Given the description of an element on the screen output the (x, y) to click on. 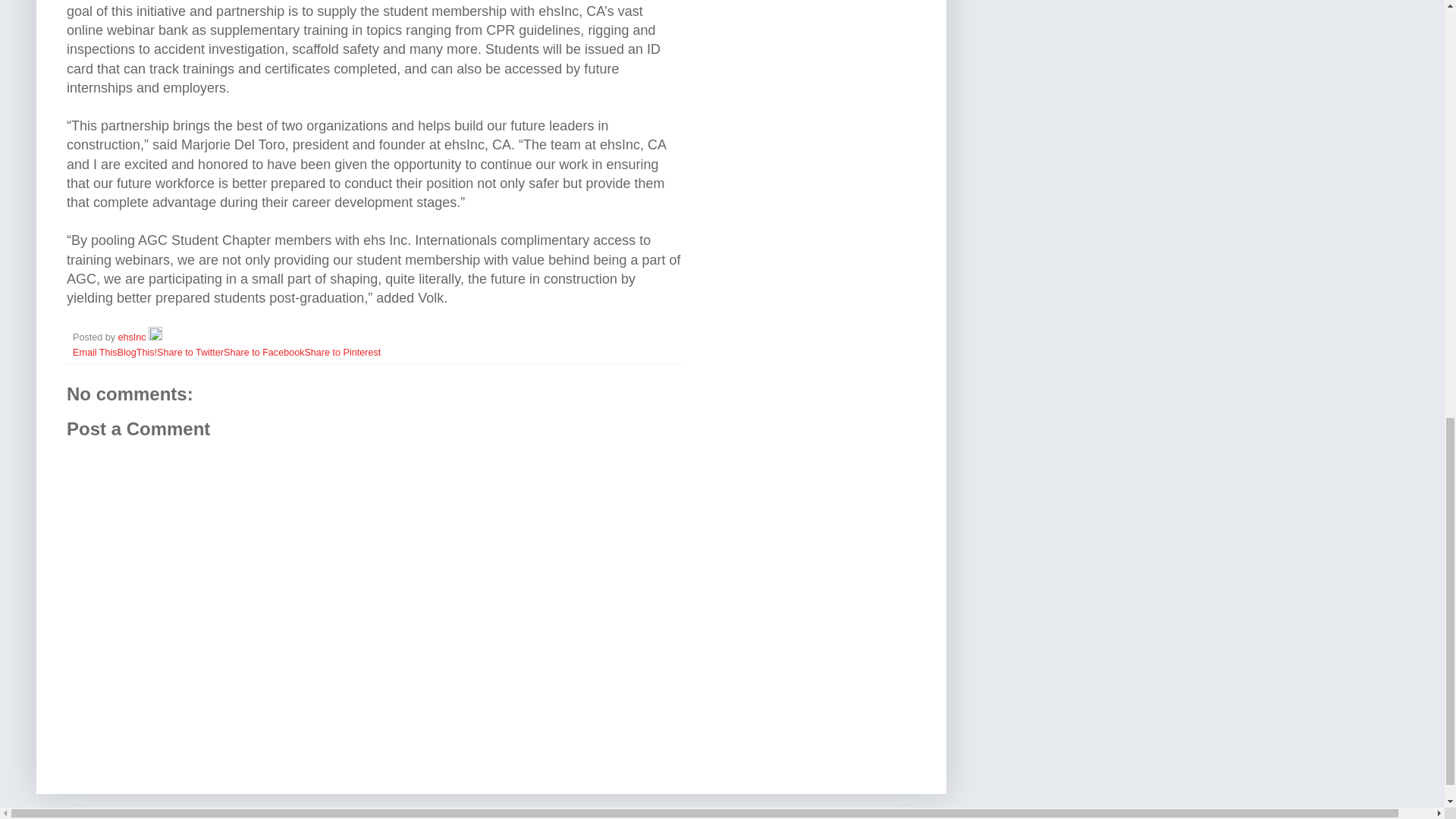
Edit Post (154, 337)
Email This (94, 352)
Share to Twitter (190, 352)
author profile (133, 337)
Email This (94, 352)
ehsInc (133, 337)
Share to Pinterest (342, 352)
BlogThis! (137, 352)
BlogThis! (137, 352)
Share to Facebook (264, 352)
